Given the description of an element on the screen output the (x, y) to click on. 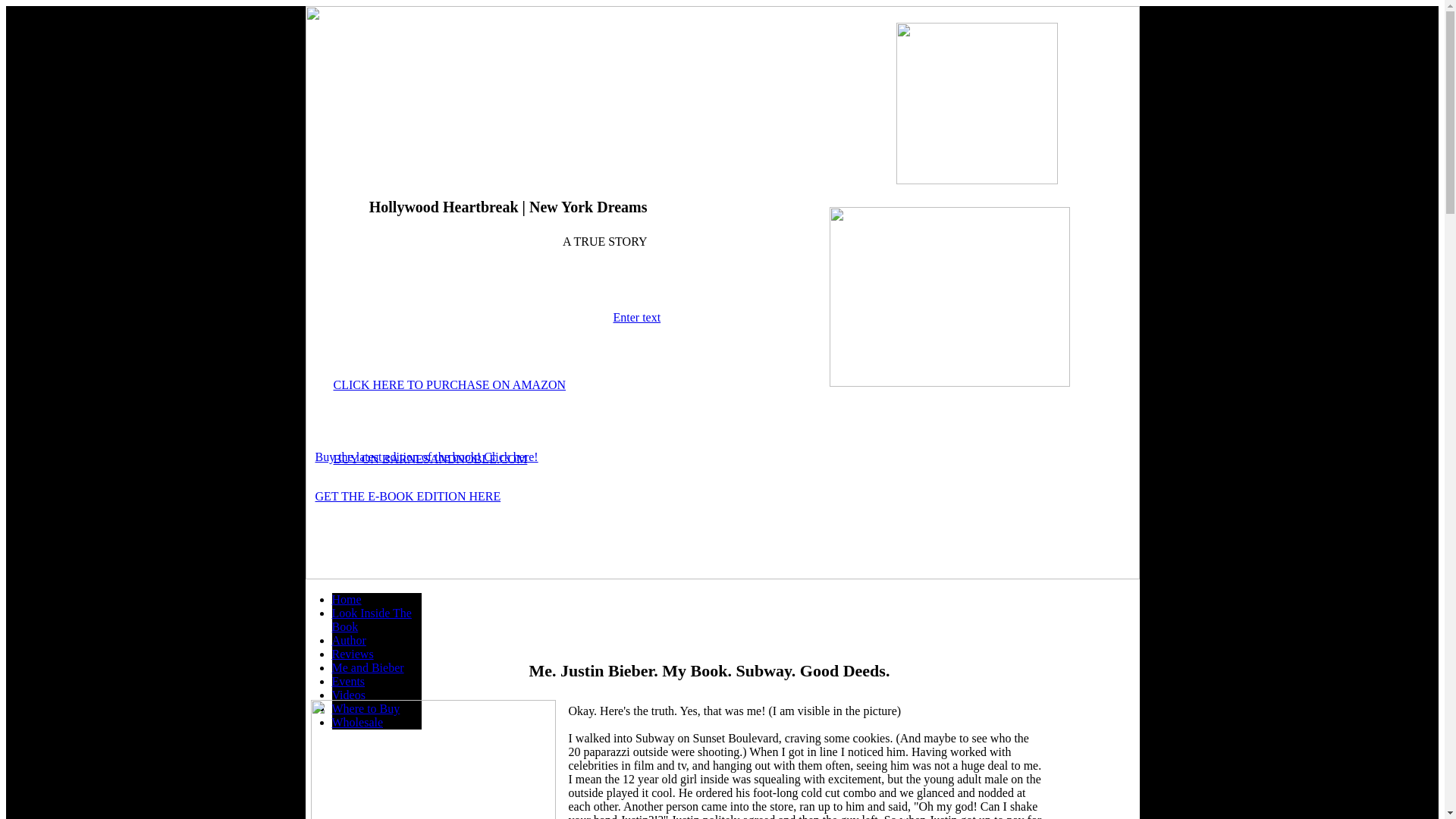
BUY ON BARNESANDNOBLE.COM (430, 459)
Events (348, 680)
Where to Buy (365, 707)
GET THE E-BOOK EDITION HERE (407, 495)
Me and Bieber (367, 667)
Author (348, 640)
Look Inside The Book (371, 619)
Enter text (636, 317)
CLICK HERE TO PURCHASE ON AMAZON (449, 384)
Reviews (352, 653)
Videos (348, 694)
Home (346, 599)
Wholesale (357, 721)
Buy the latest edition of the book! Click here! (426, 456)
